Given the description of an element on the screen output the (x, y) to click on. 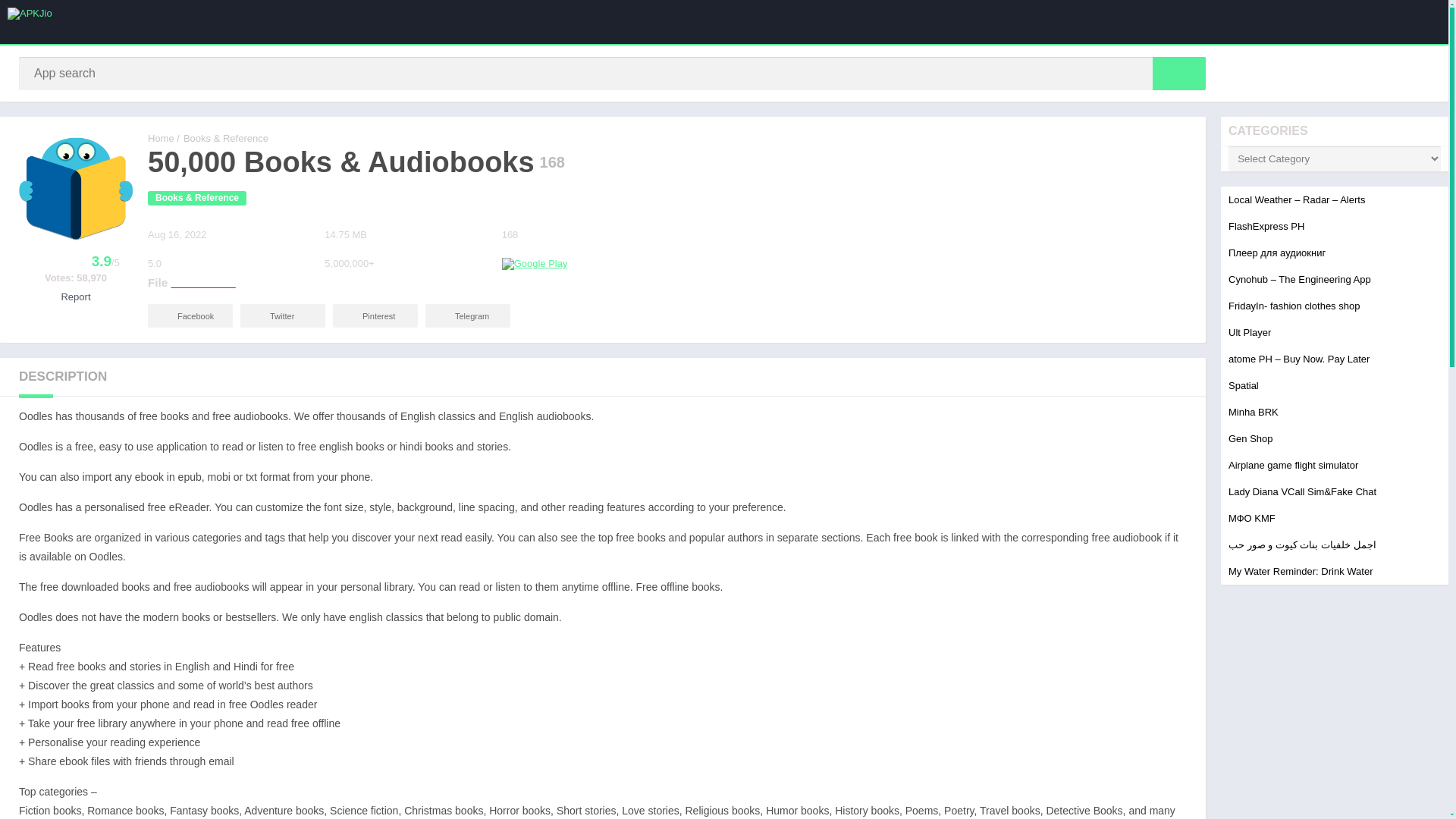
Minha BRK (1253, 411)
FlashExpress PH (1266, 225)
Twitter (282, 315)
Ult Player (1249, 332)
FridayIn- fashion clothes shop (1293, 306)
Spatial (1243, 385)
Click here... (202, 282)
Home (161, 138)
Telegram (468, 315)
App search (1179, 73)
APKJio (161, 138)
Facebook (190, 315)
Pinterest (375, 315)
